Given the description of an element on the screen output the (x, y) to click on. 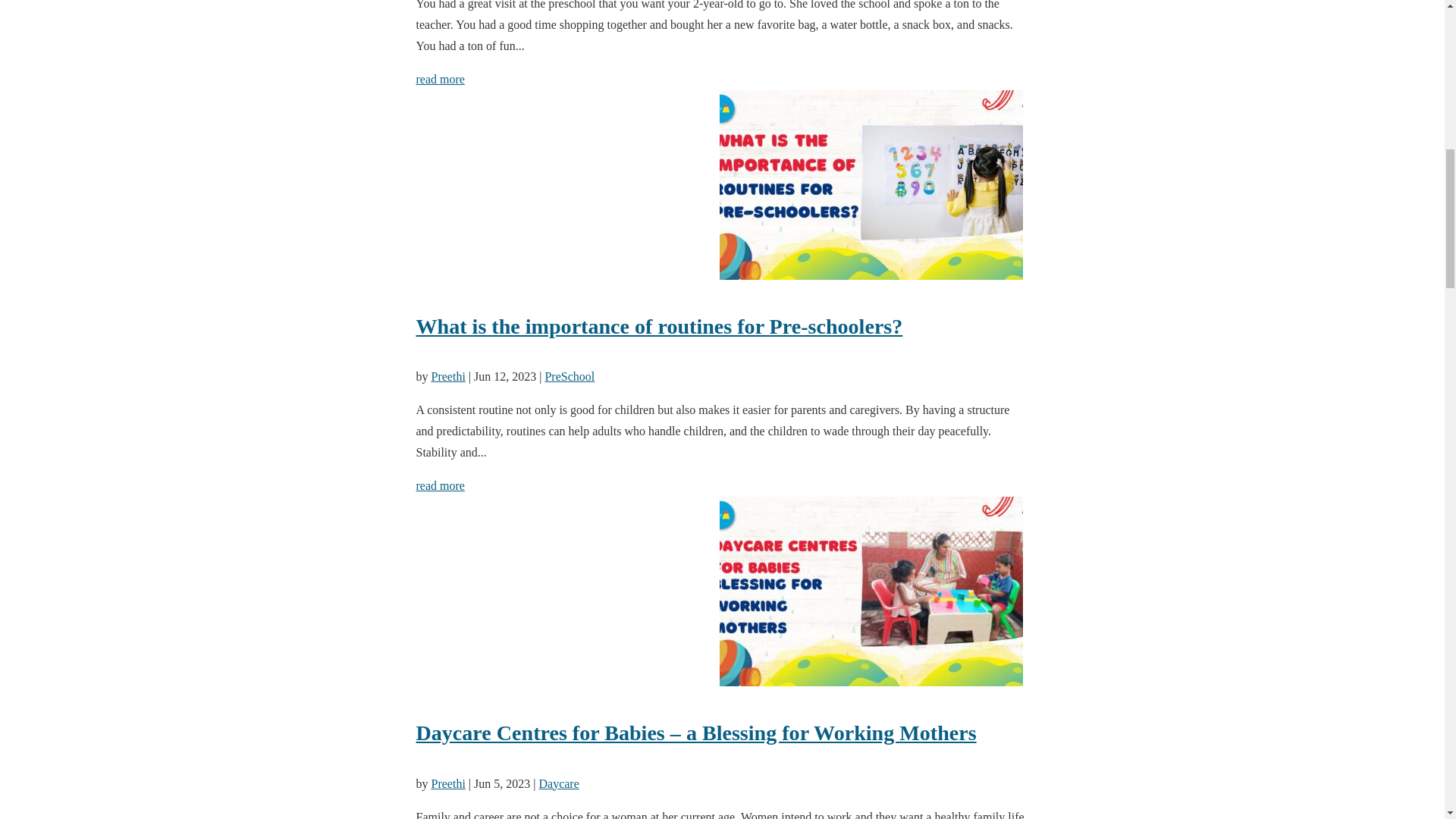
Preethi (447, 783)
Daycare (558, 783)
Preethi (447, 376)
read more (439, 485)
What is the importance of routines for Pre-schoolers? (720, 325)
Posts by Preethi (447, 783)
PreSchool (569, 376)
read more (439, 78)
Posts by Preethi (447, 376)
